Given the description of an element on the screen output the (x, y) to click on. 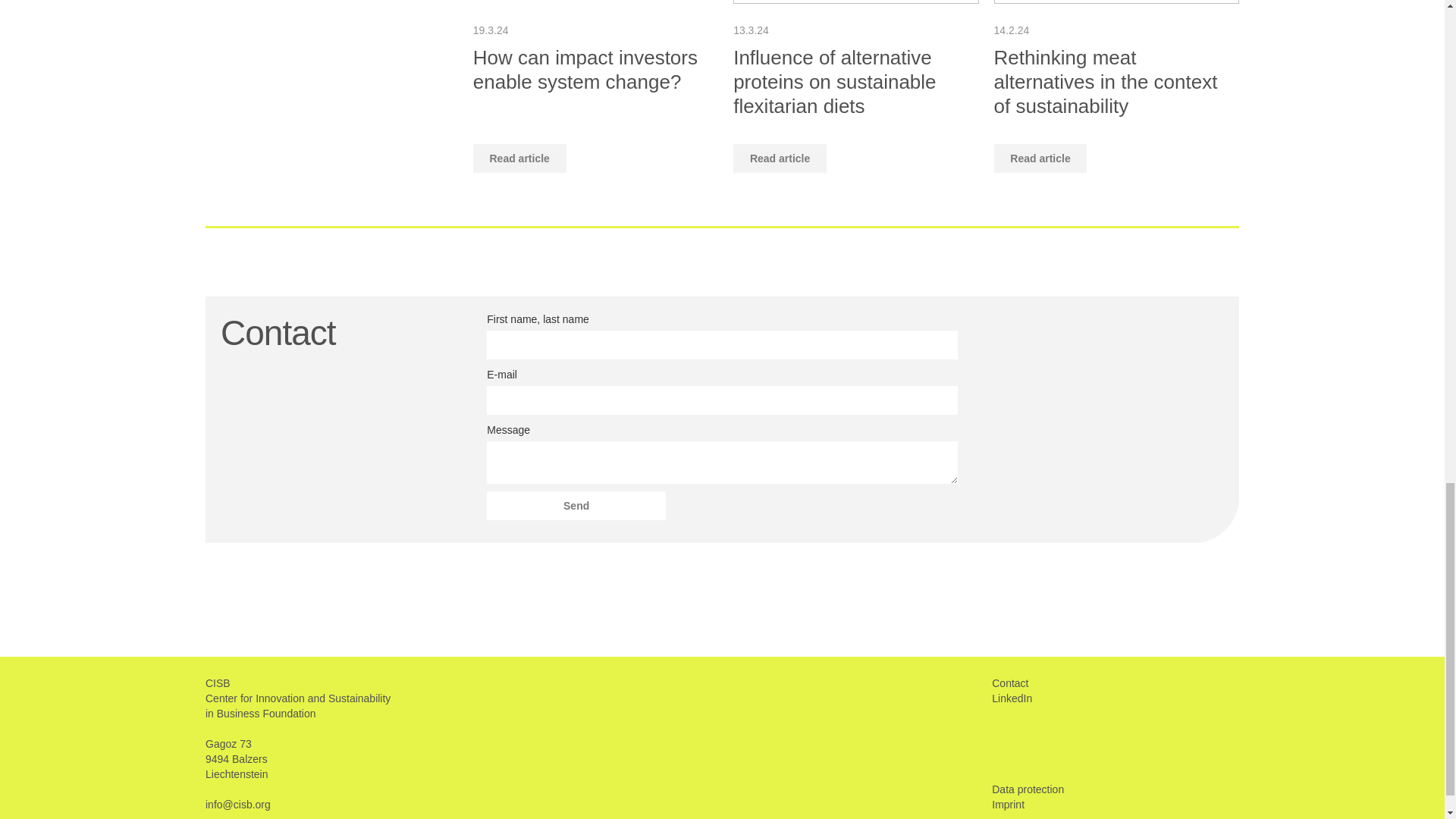
Read article (519, 158)
Read article (1040, 158)
Send (575, 505)
Send (575, 505)
Data protection (1027, 788)
Read article (780, 158)
Imprint (1008, 804)
